Given the description of an element on the screen output the (x, y) to click on. 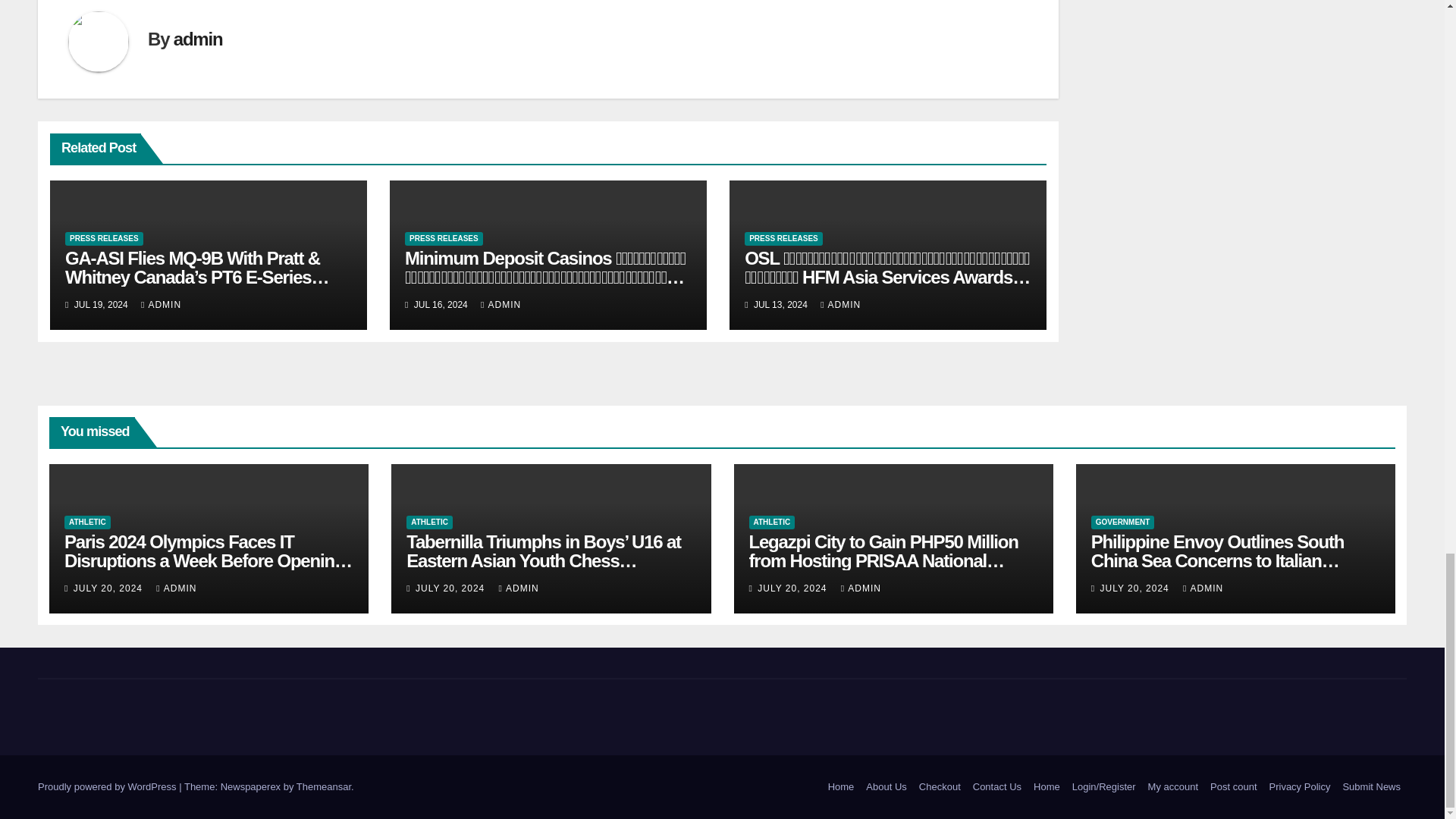
admin (197, 38)
